Given the description of an element on the screen output the (x, y) to click on. 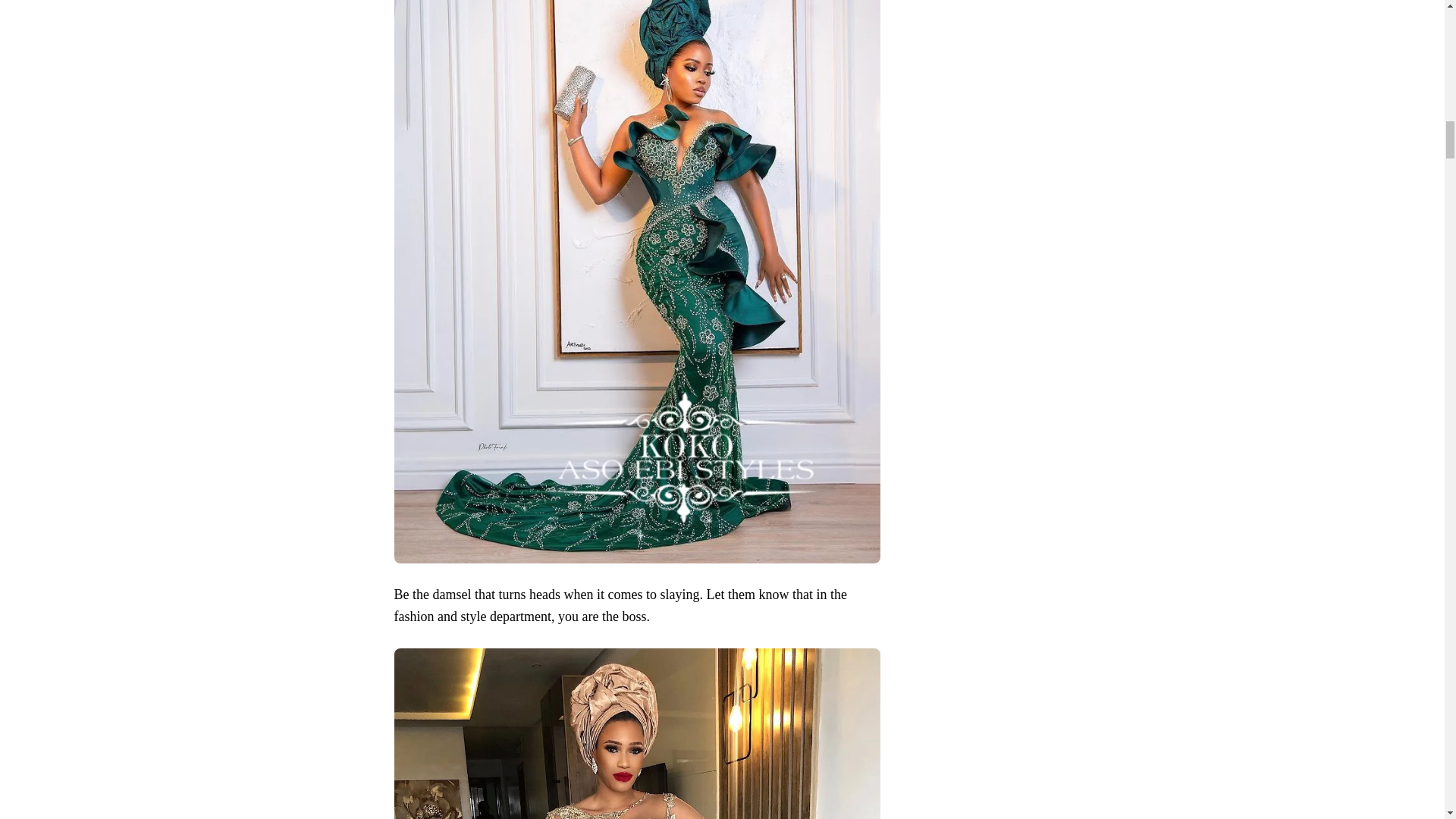
Look Forever Young In These Evergreen Aso Ebi Styles 4 (637, 733)
